Given the description of an element on the screen output the (x, y) to click on. 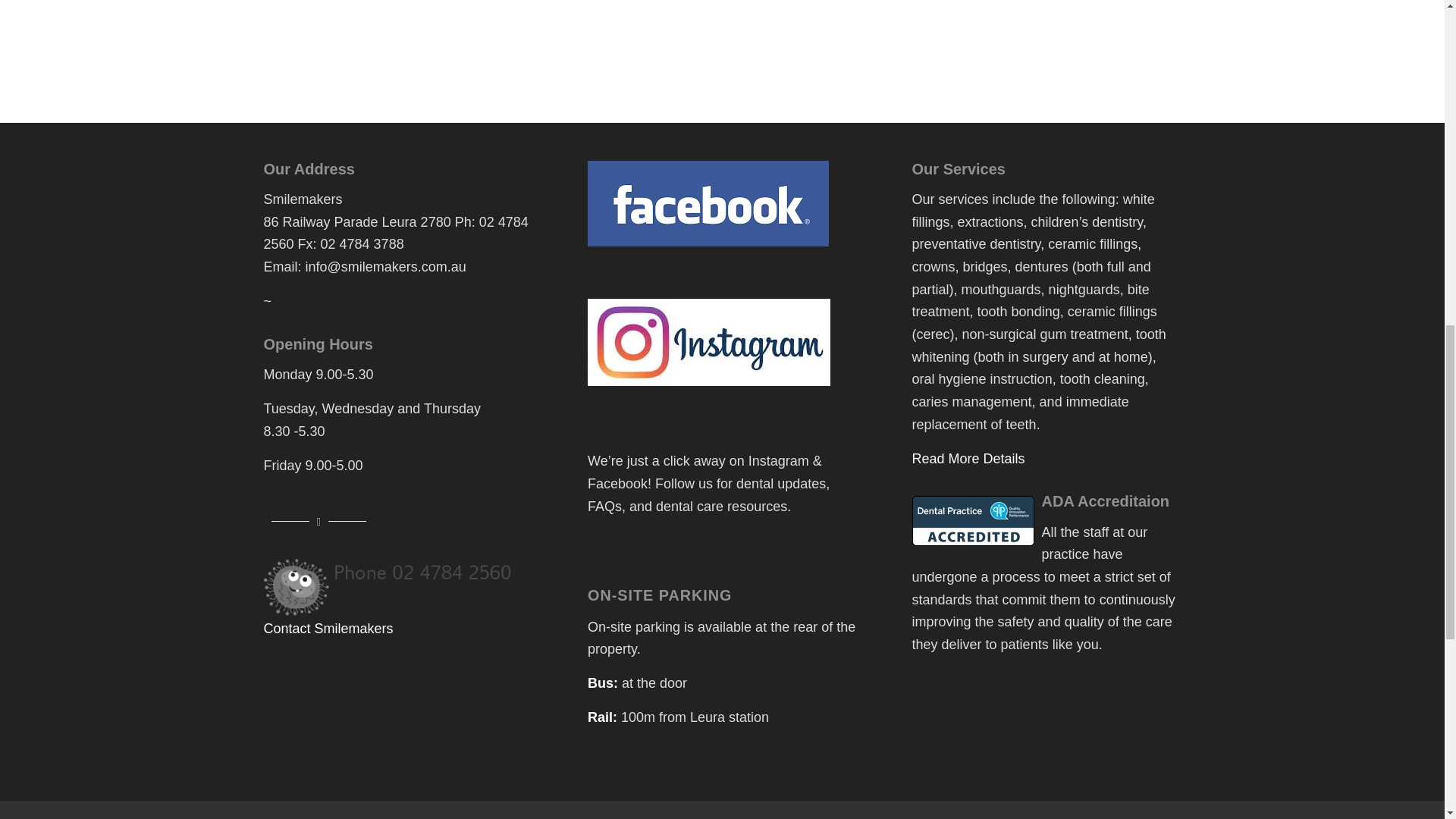
Read More Details (968, 458)
Contact Smilemakers (328, 628)
virus (392, 587)
